Given the description of an element on the screen output the (x, y) to click on. 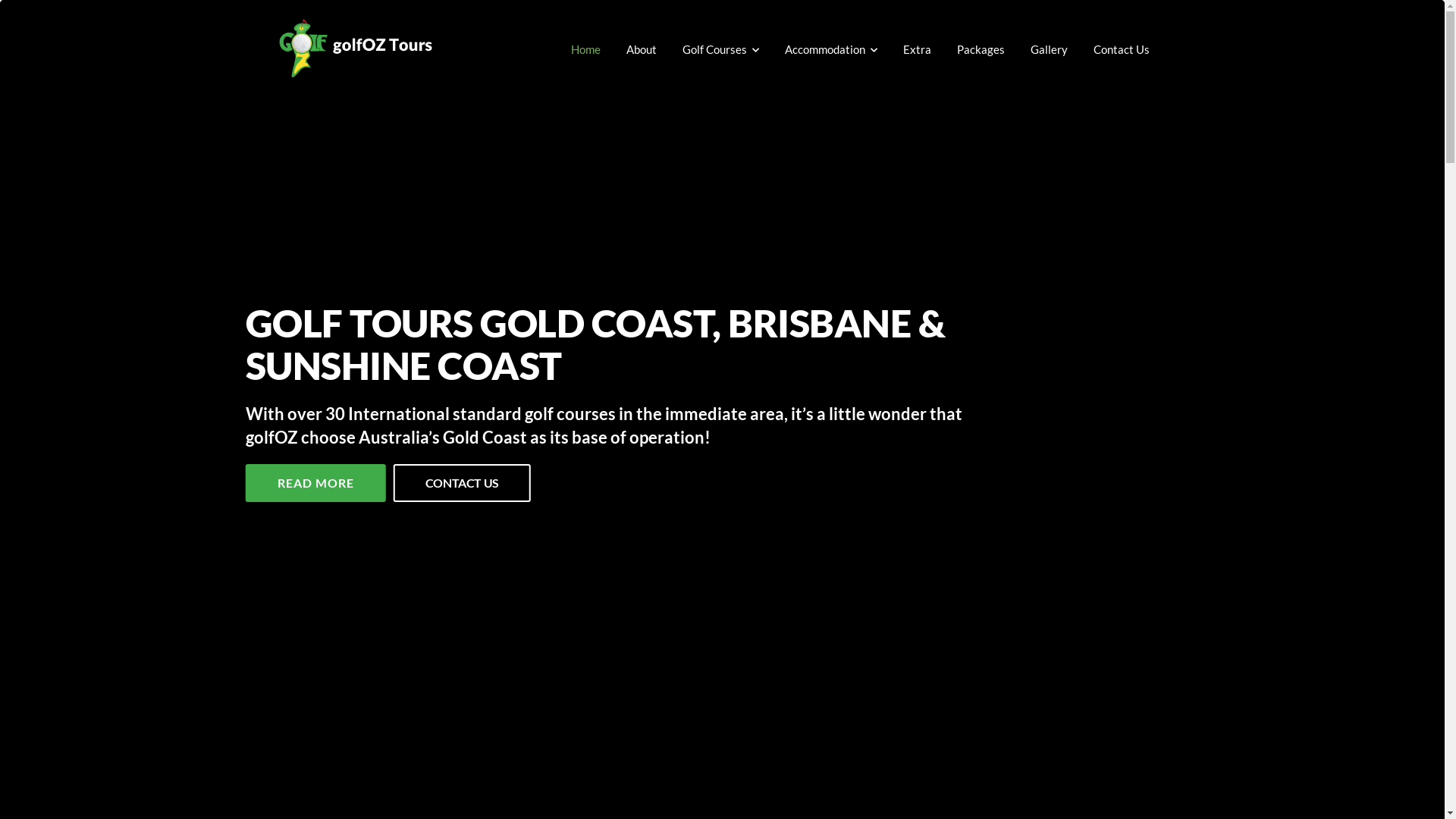
READ MORE Element type: text (315, 483)
Accommodation Element type: text (830, 48)
CONTACT US Element type: text (461, 483)
About Element type: text (641, 48)
Contact Us Element type: text (1121, 48)
Home Element type: text (584, 48)
Golf Courses Element type: text (720, 48)
Gallery Element type: text (1048, 48)
Packages Element type: text (980, 48)
GolfOZ Tours - UDesign WordPress Demo Site Element type: hover (355, 47)
Extra Element type: text (916, 48)
